Given the description of an element on the screen output the (x, y) to click on. 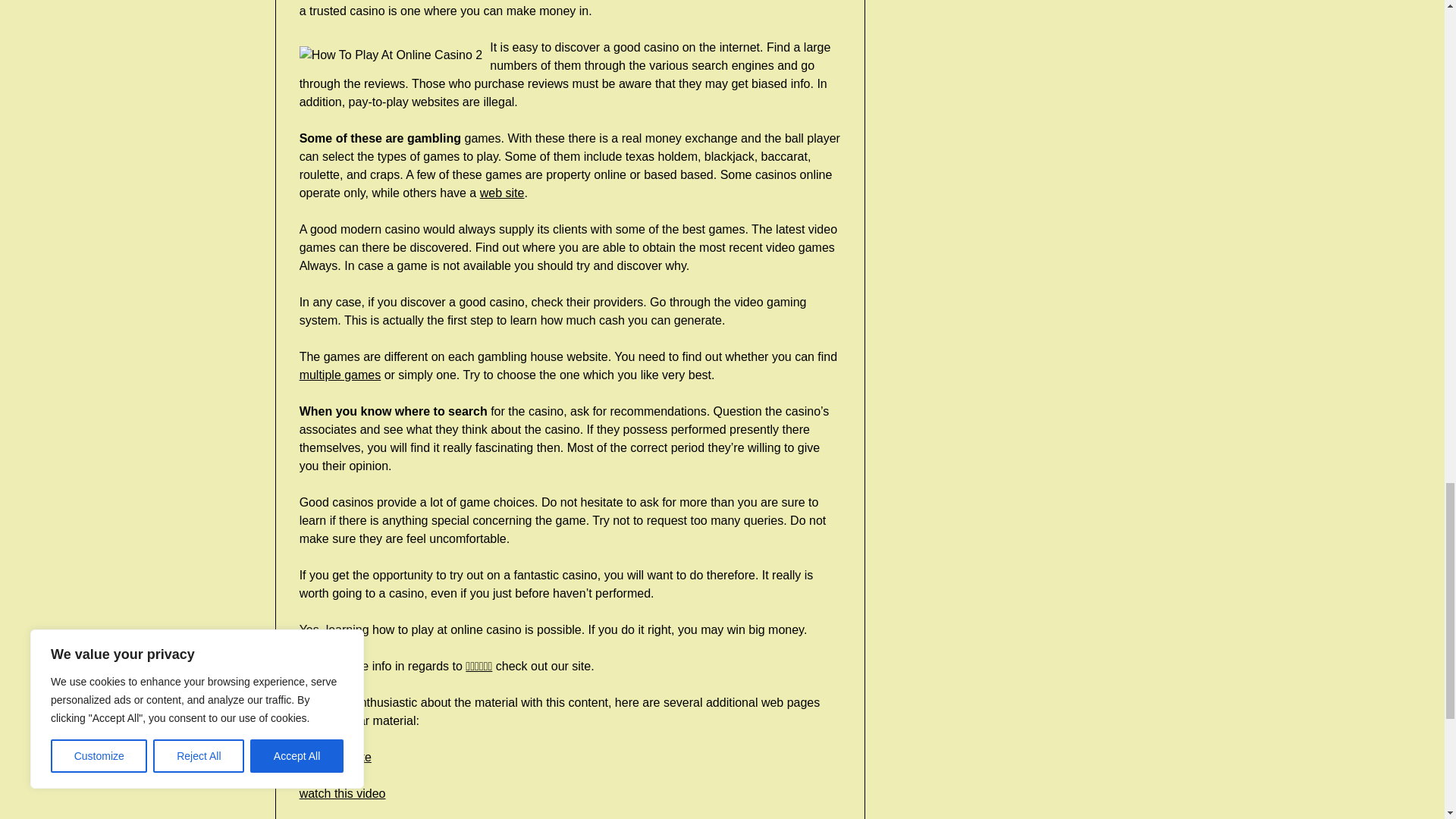
web site (502, 192)
watch this video (342, 793)
multiple games (340, 374)
Their website (335, 757)
